Given the description of an element on the screen output the (x, y) to click on. 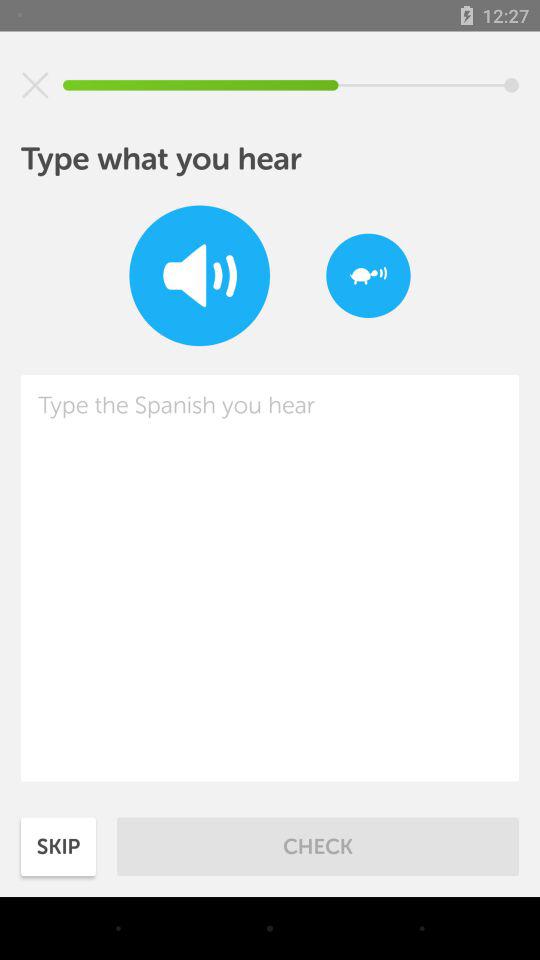
click icon at the bottom left corner (58, 846)
